Given the description of an element on the screen output the (x, y) to click on. 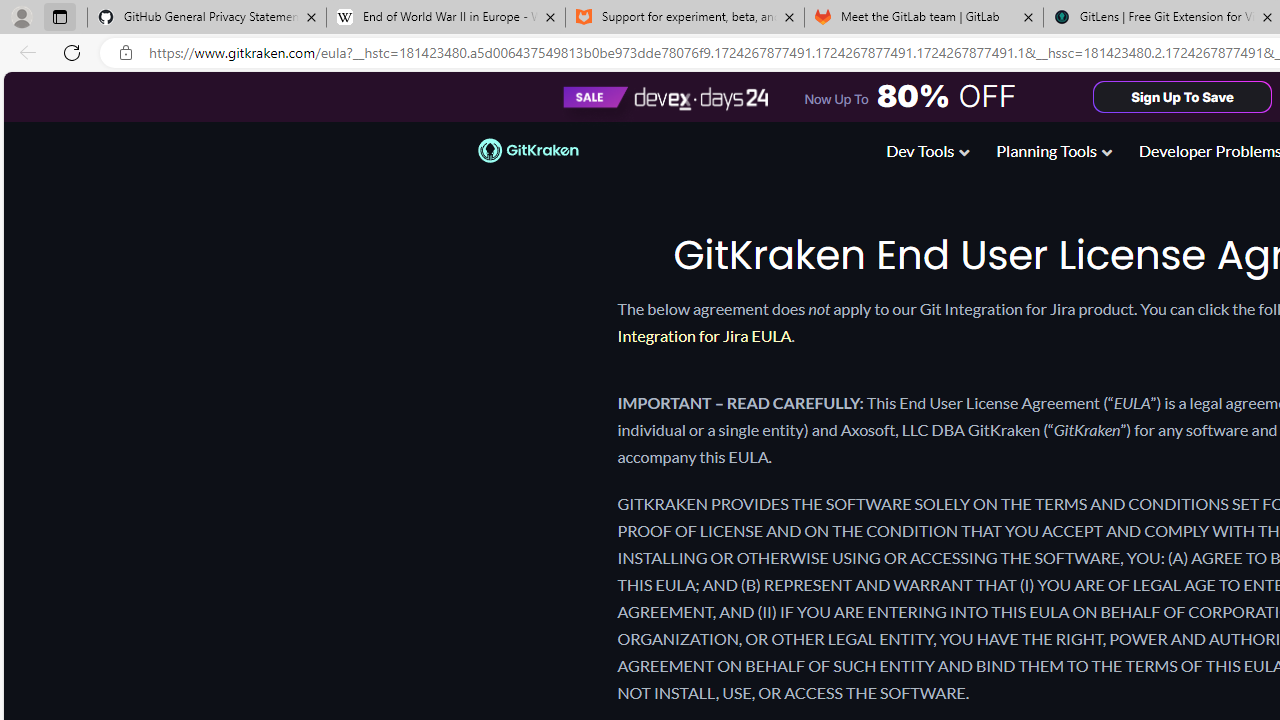
Meet the GitLab team | GitLab (924, 17)
GitHub General Privacy Statement - GitHub Docs (207, 17)
End of World War II in Europe - Wikipedia (445, 17)
